Given the description of an element on the screen output the (x, y) to click on. 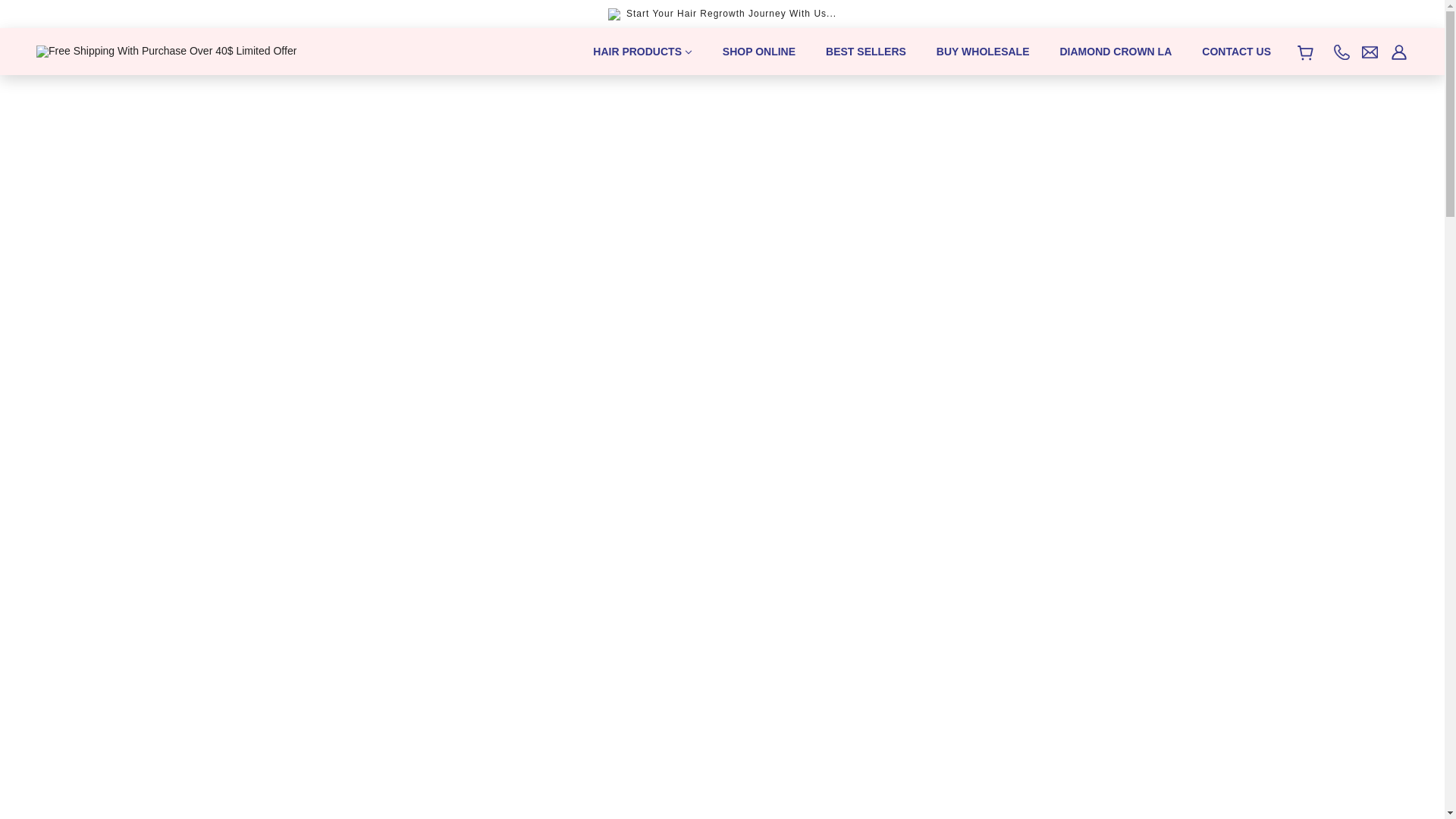
CONTACT US (1235, 51)
DIAMOND CROWN LA (1116, 51)
Hair Spa LA (166, 50)
BEST SELLERS (865, 51)
HAIR PRODUCTS (642, 51)
SHOP ONLINE (758, 51)
BUY WHOLESALE (983, 51)
